Given the description of an element on the screen output the (x, y) to click on. 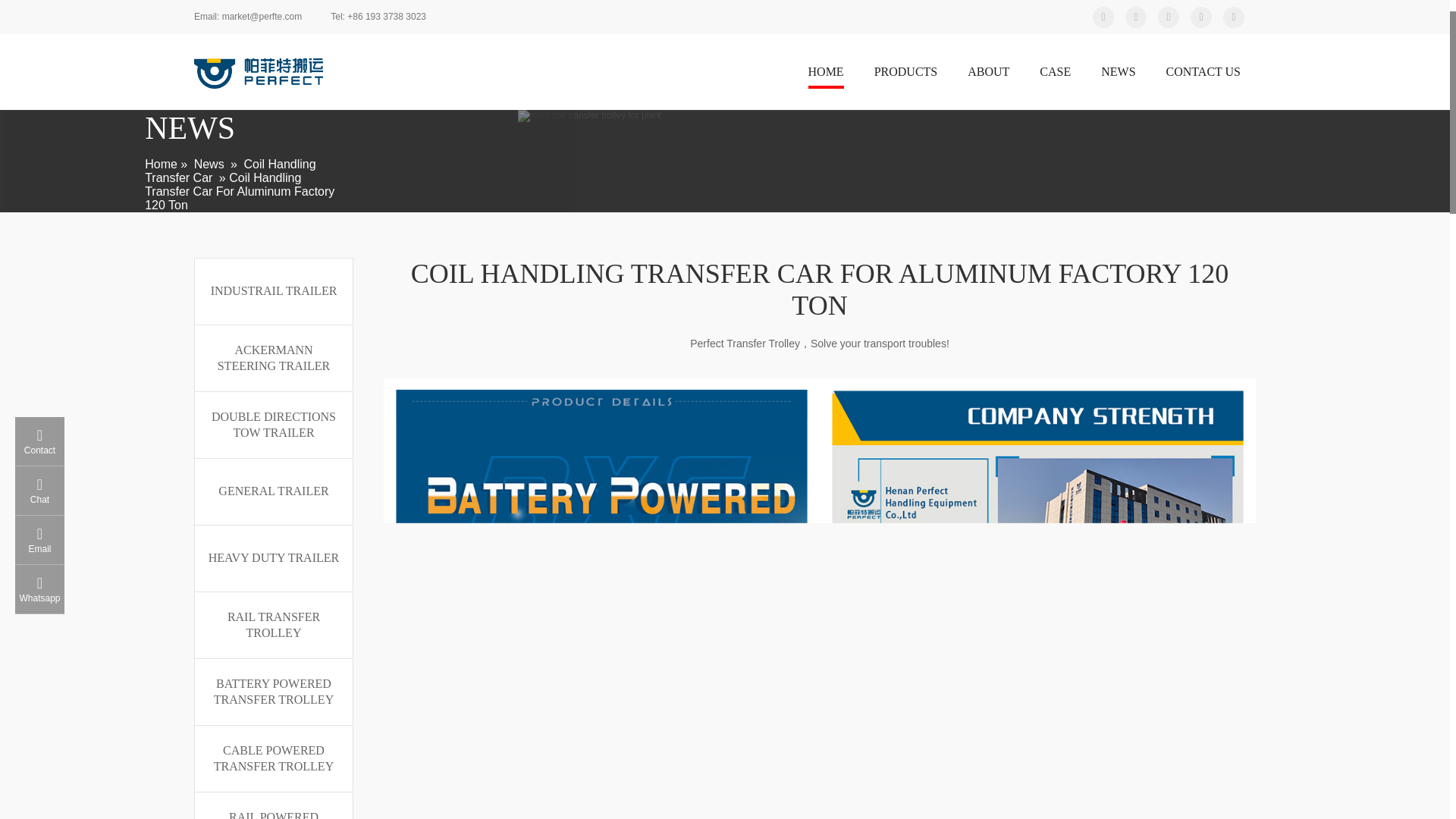
ABOUT (988, 73)
Perfect coil transfer trolley youtube (1136, 16)
Perfect coil transfer trolley linkedin (1168, 16)
Perfect coil transfer trolley ins (1233, 16)
Products (906, 73)
PRODUCTS (906, 73)
Perfect coil transfer trolley twitter (1103, 16)
CONTACT US (1203, 73)
Perfect coil transfer trolley email (247, 17)
Perfect coil transfer trolley facebook (1201, 16)
Perfect coil transfer trolley supplier (258, 73)
Perfect coil transfer trolley email (378, 17)
